Given the description of an element on the screen output the (x, y) to click on. 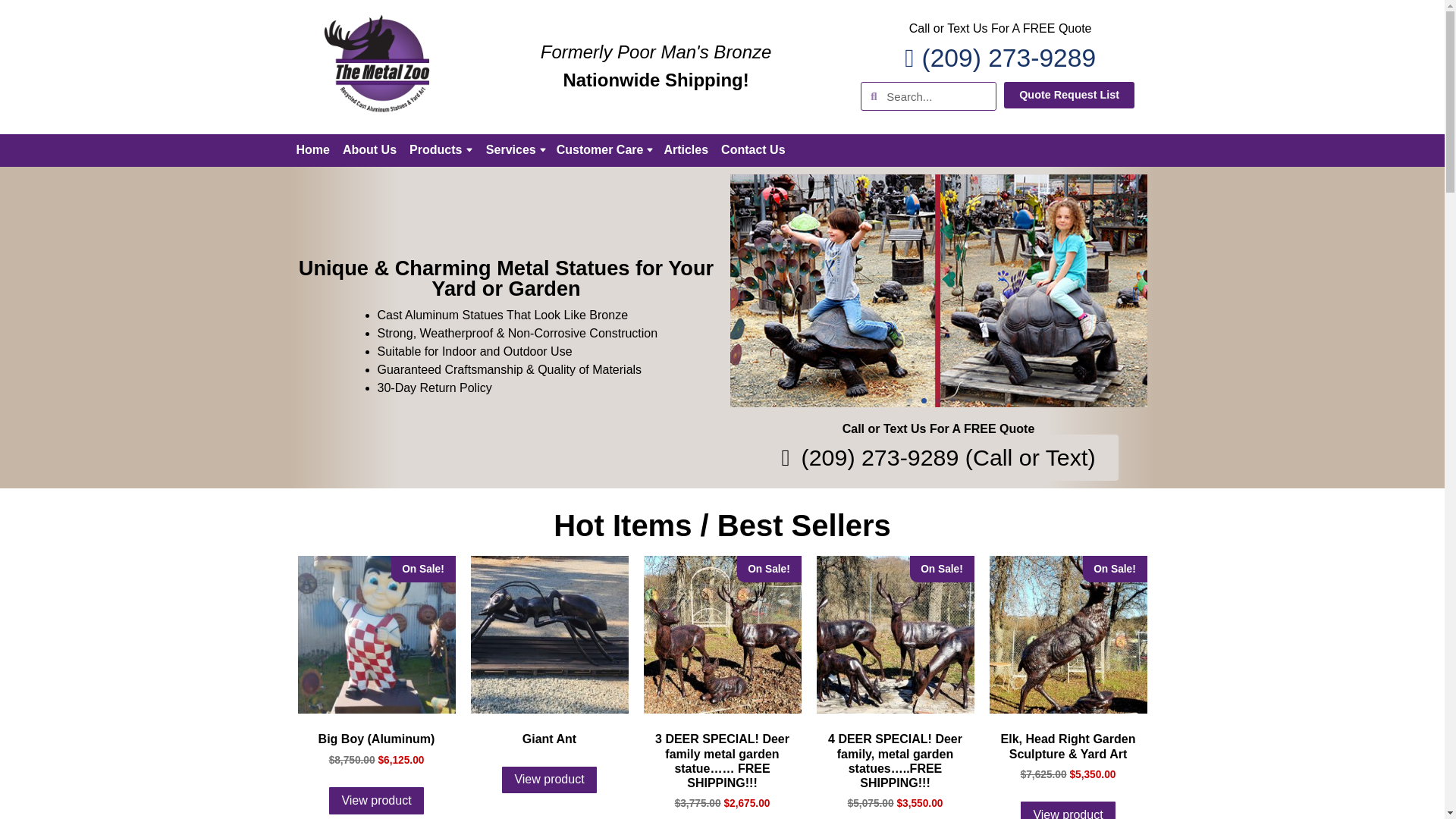
Products (441, 150)
Home (312, 150)
About Us (369, 150)
Quote Request List (1069, 94)
